Given the description of an element on the screen output the (x, y) to click on. 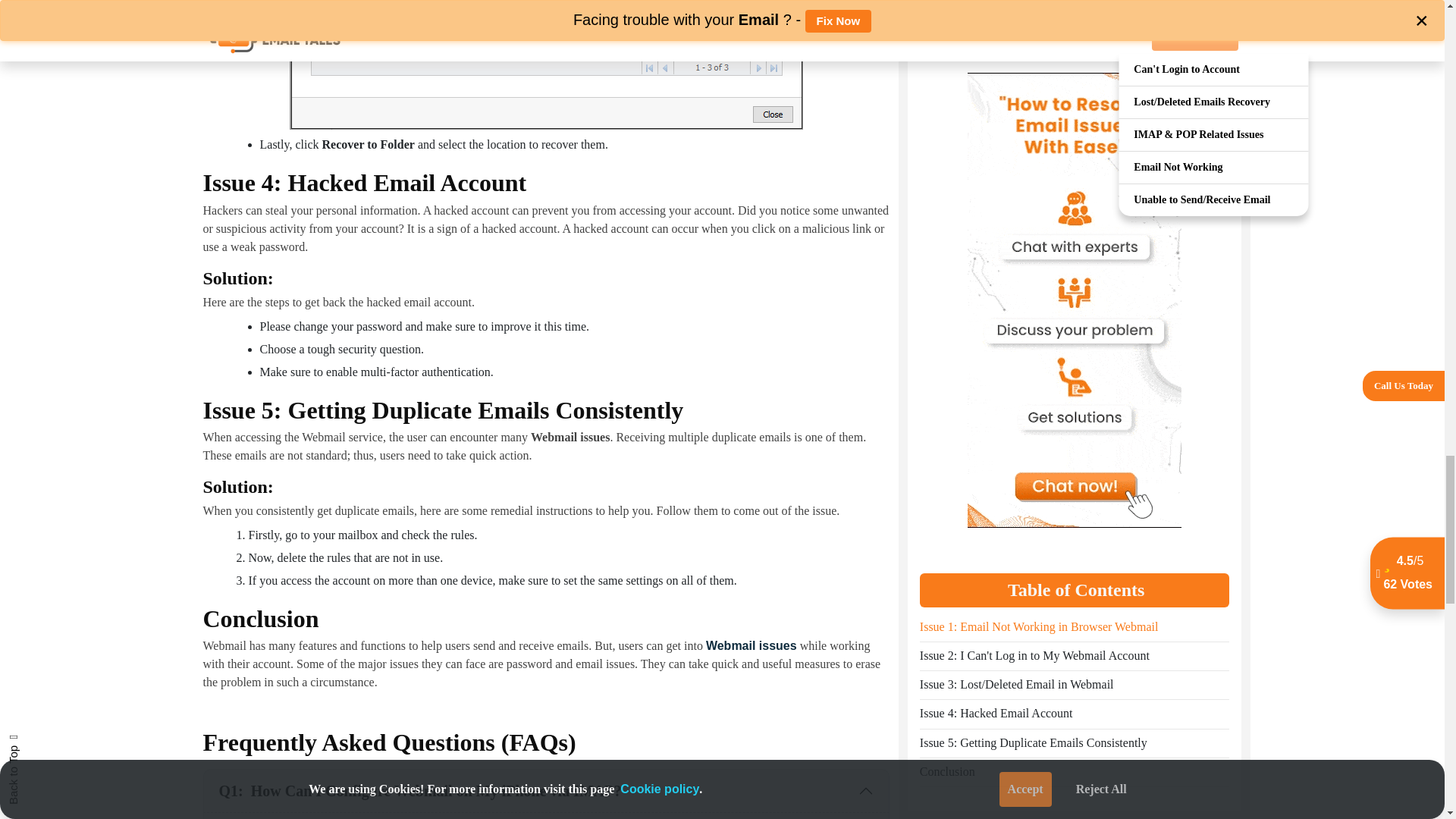
Webmail issues (751, 645)
